Given the description of an element on the screen output the (x, y) to click on. 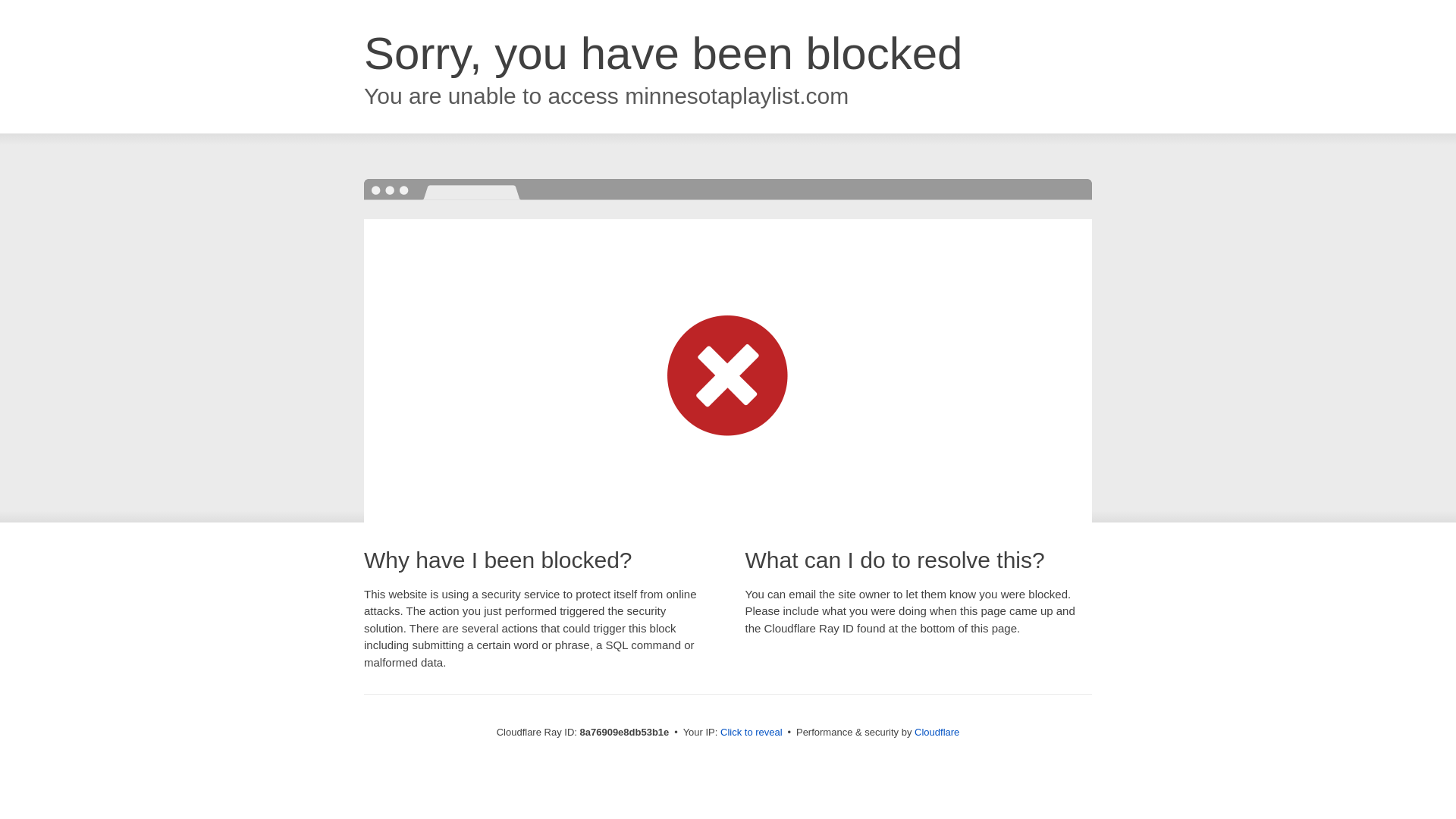
Cloudflare (936, 731)
Click to reveal (751, 732)
